Given the description of an element on the screen output the (x, y) to click on. 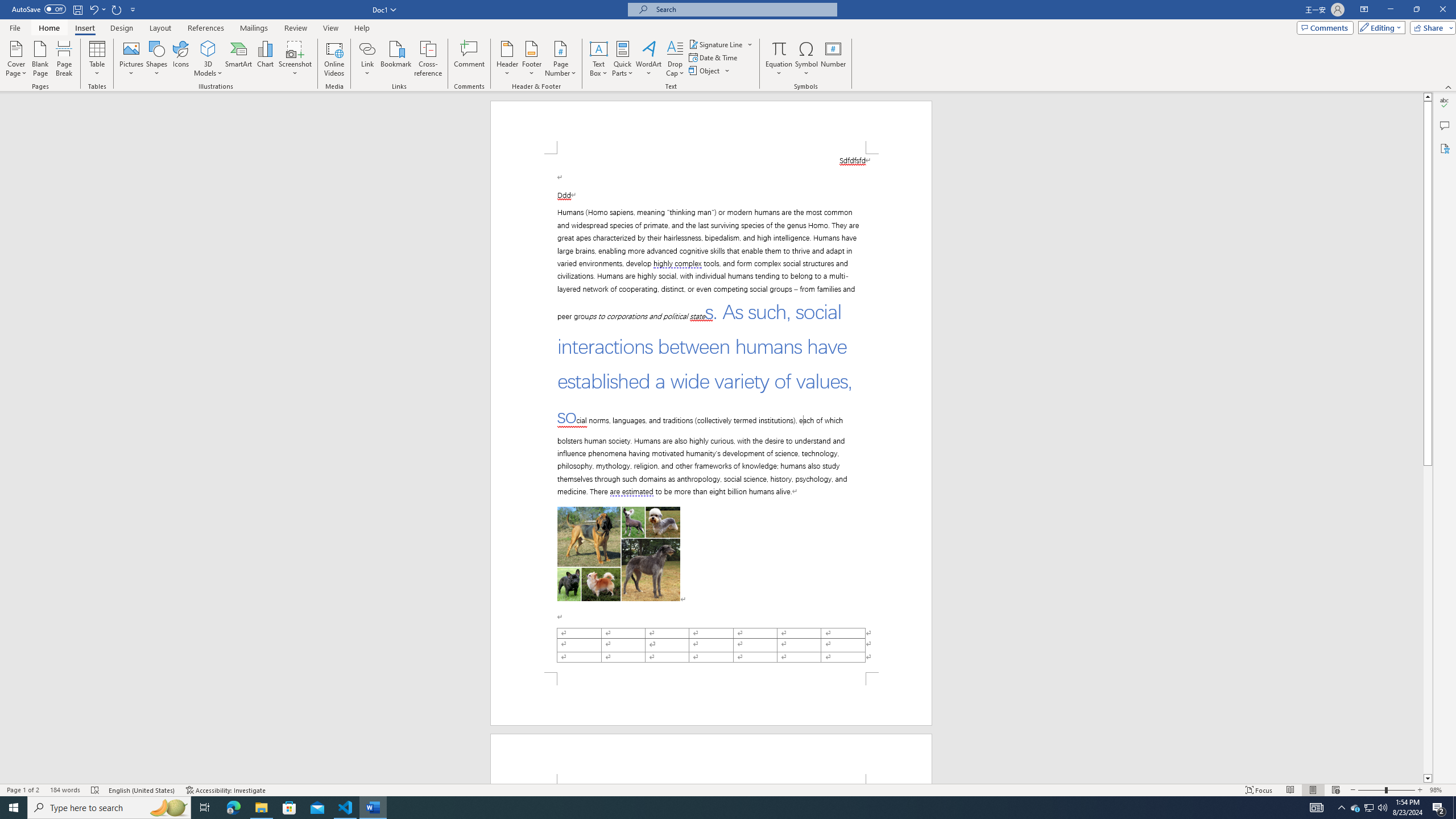
Screenshot (295, 58)
Chart... (265, 58)
Spelling and Grammar Check Errors (94, 790)
Object... (709, 69)
Object... (705, 69)
Equation (778, 58)
Bookmark... (396, 58)
